Given the description of an element on the screen output the (x, y) to click on. 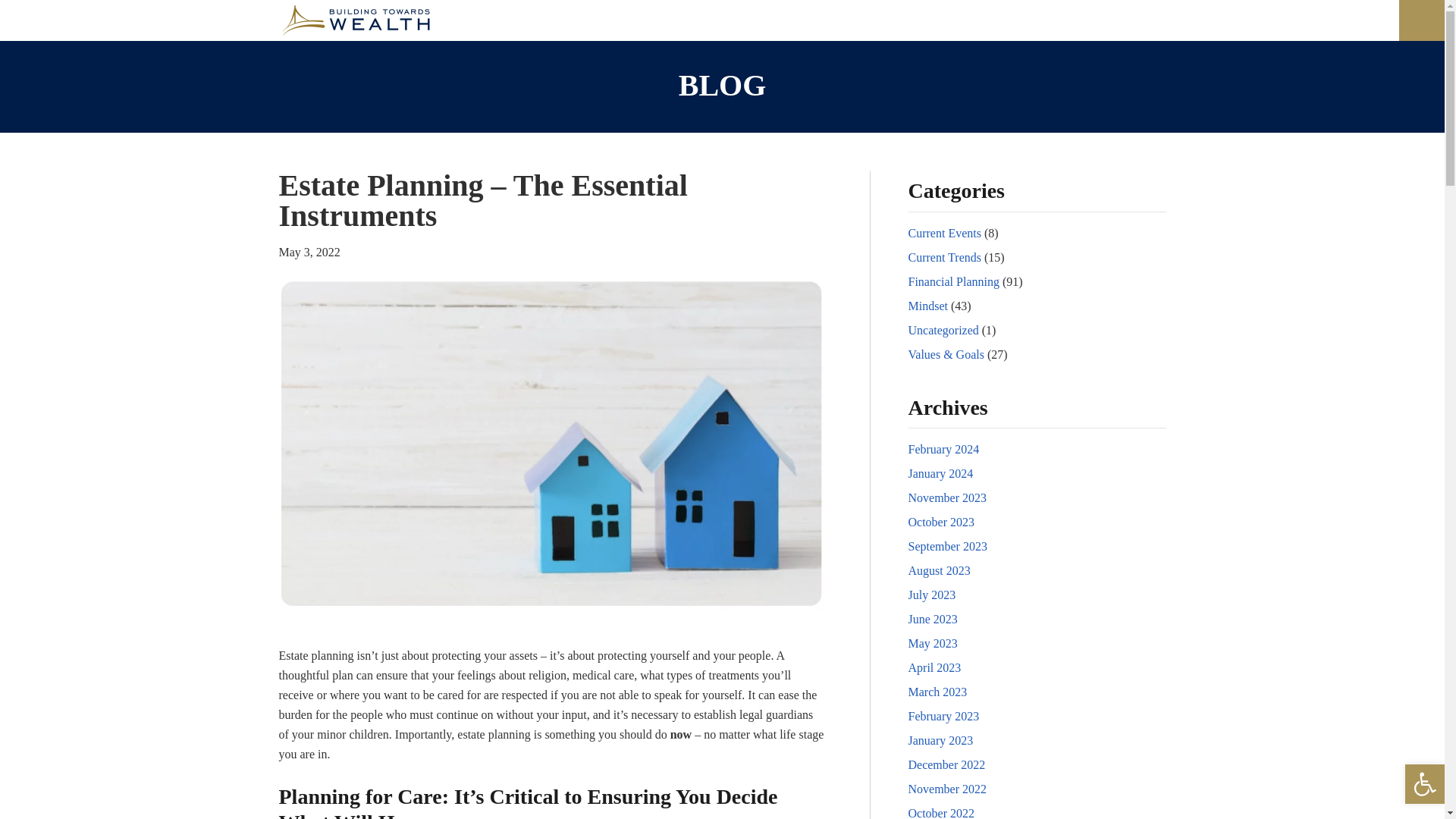
June 2023 (933, 618)
BROKER CHECK (1237, 20)
February 2024 (943, 449)
Current Events (944, 232)
January 2024 (941, 472)
Financial Planning (953, 281)
September 2023 (947, 545)
Uncategorized (943, 329)
October 2023 (941, 521)
July 2023 (932, 594)
Current Trends (944, 256)
ME (976, 20)
CONNECT (1126, 20)
Mindset (927, 305)
